Given the description of an element on the screen output the (x, y) to click on. 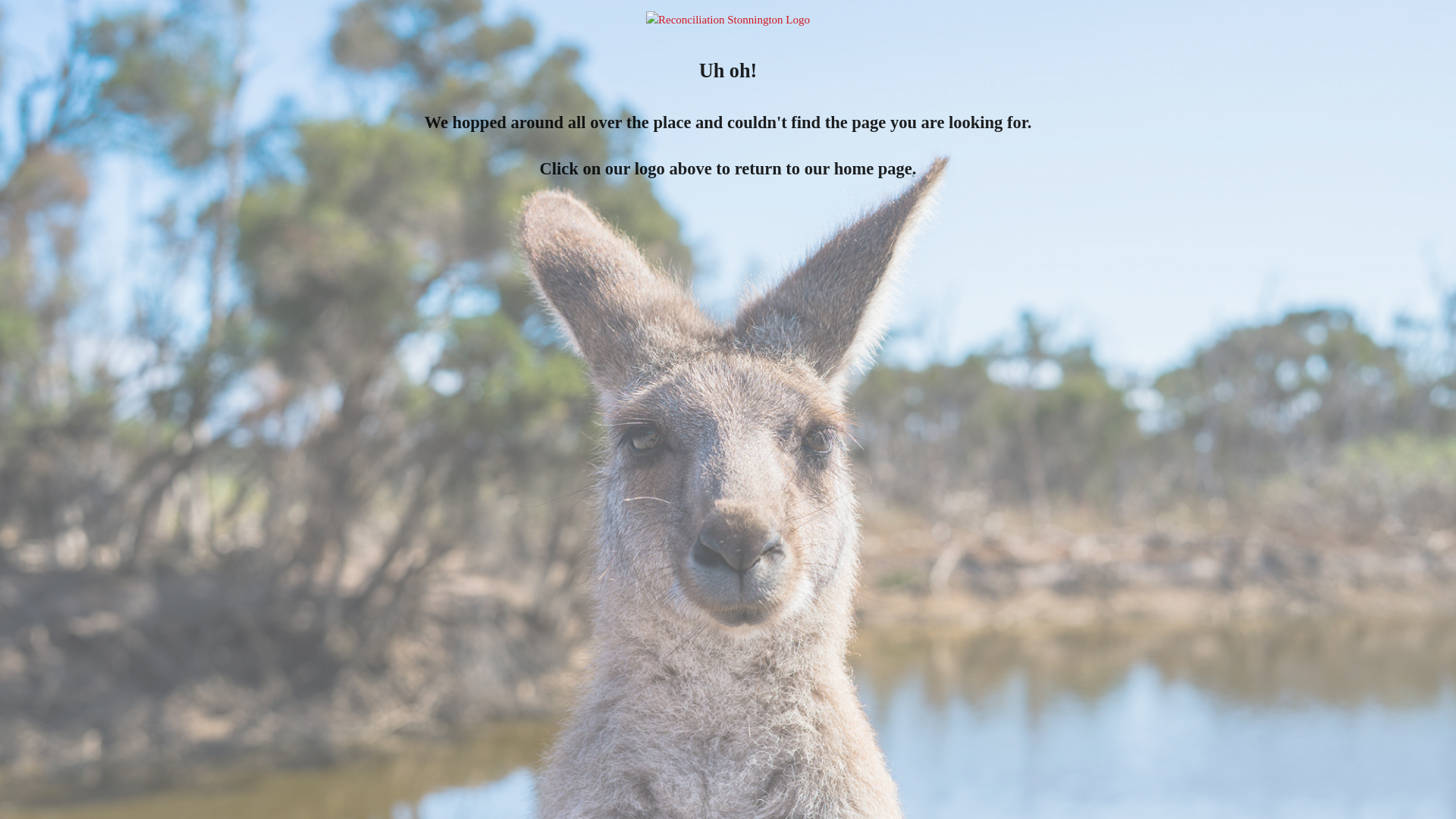
Reconciliation Stonnington Element type: hover (727, 19)
